Given the description of an element on the screen output the (x, y) to click on. 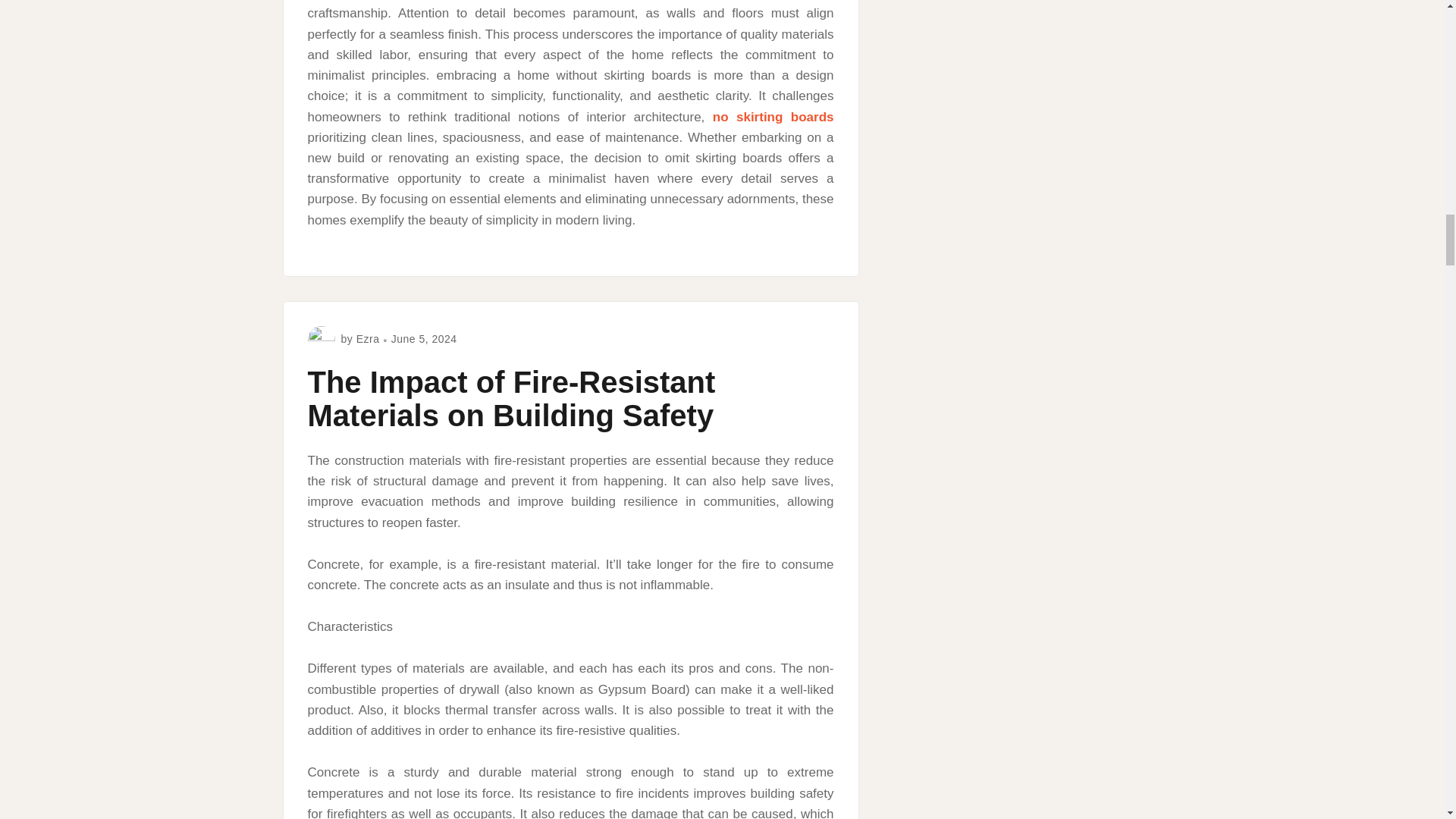
The Impact of Fire-Resistant Materials on Building Safety (511, 398)
Ezra (368, 338)
June 5, 2024 (424, 338)
no skirting boards (773, 116)
